Given the description of an element on the screen output the (x, y) to click on. 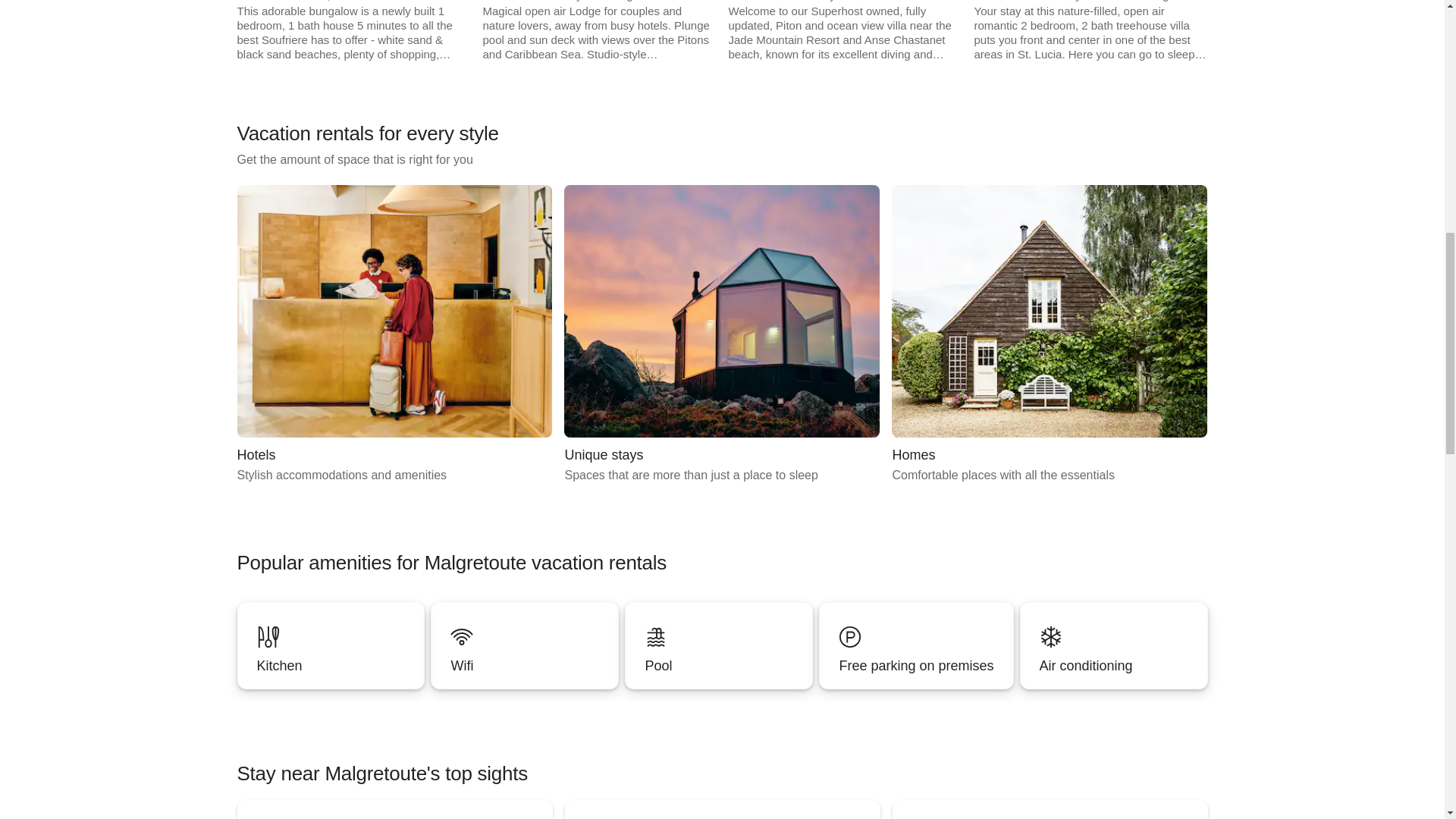
Pool (393, 334)
Pool (721, 334)
Wifi (718, 645)
Air conditioning (719, 665)
Wifi (524, 645)
Wifi (1049, 334)
Kitchen (1114, 645)
